Given the description of an element on the screen output the (x, y) to click on. 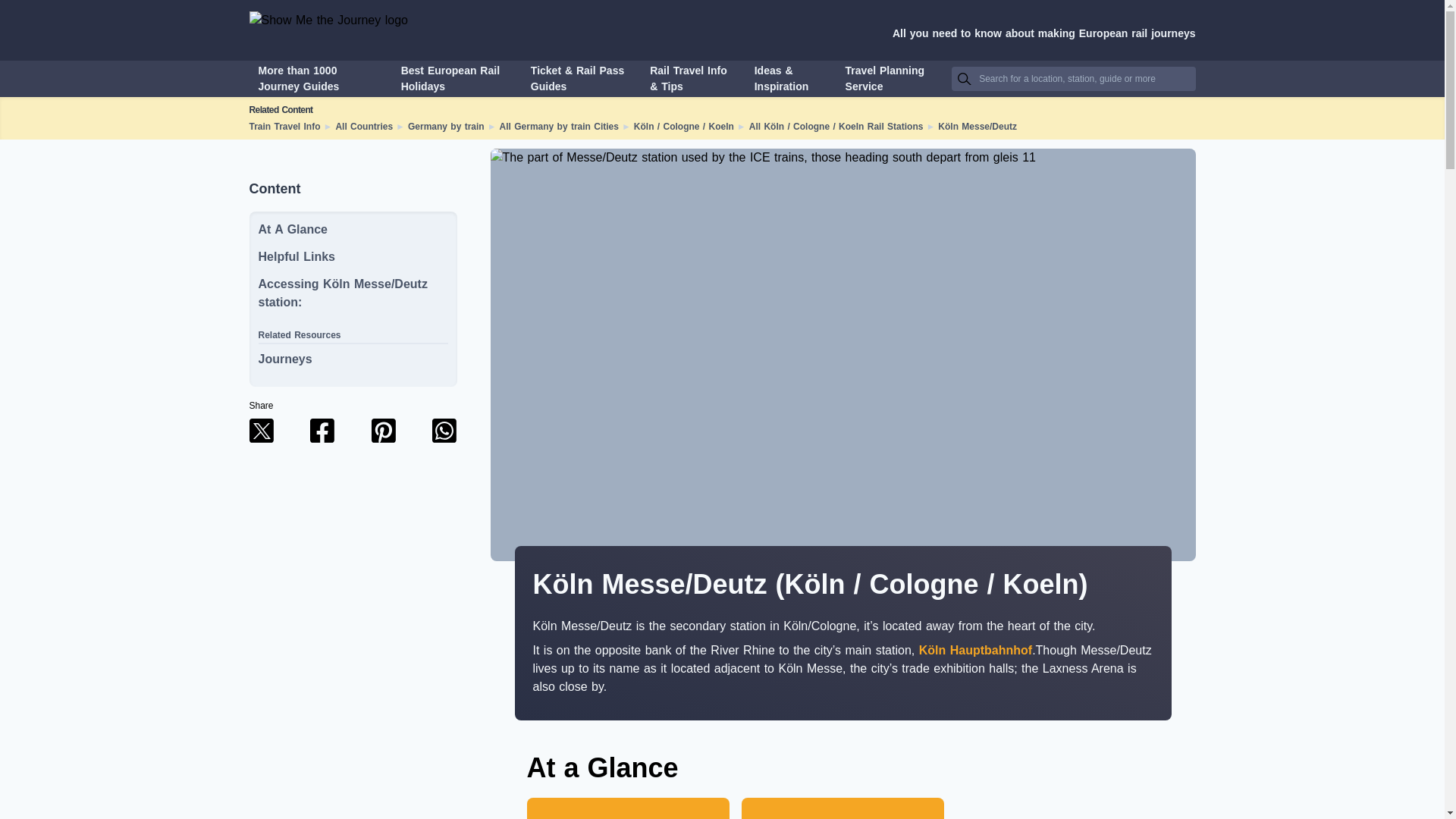
Helpful Links (295, 256)
Best European Rail Holidays (454, 78)
Train Travel Info (284, 126)
More than 1000 Journey Guides (318, 78)
Journeys (284, 358)
Journeys (351, 363)
All Germany by train Cities (558, 126)
At A Glance (292, 228)
All Countries (363, 126)
Germany by train (445, 126)
Travel Planning Service (889, 78)
